Given the description of an element on the screen output the (x, y) to click on. 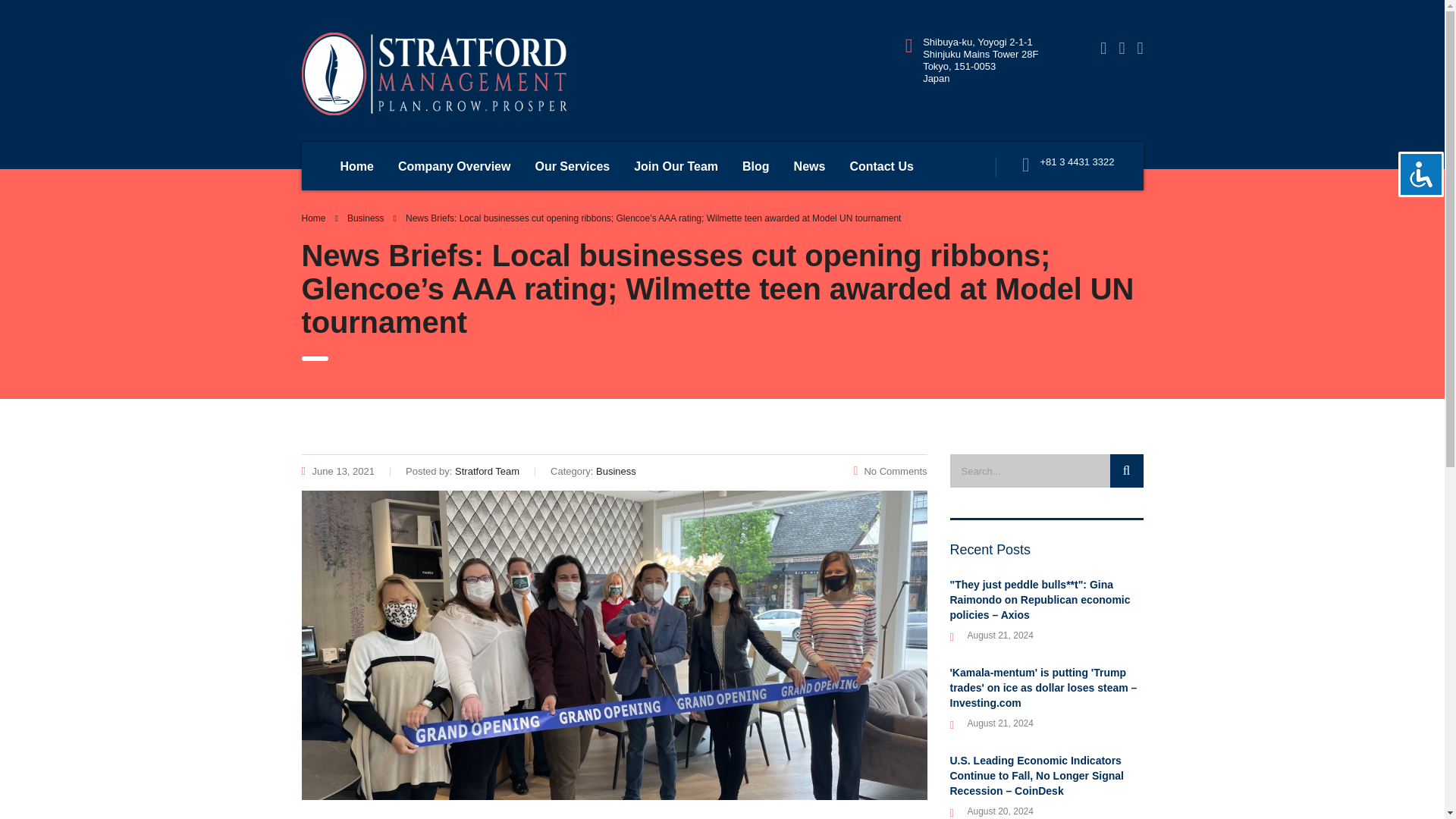
Home (313, 217)
Contact Us (880, 165)
Go to the Business category archives. (365, 217)
No Comments (890, 471)
Go to Stratford Management Tokyo Japan. (313, 217)
Blog (755, 165)
News (809, 165)
Our Services (571, 165)
Business (365, 217)
Home (356, 165)
